Given the description of an element on the screen output the (x, y) to click on. 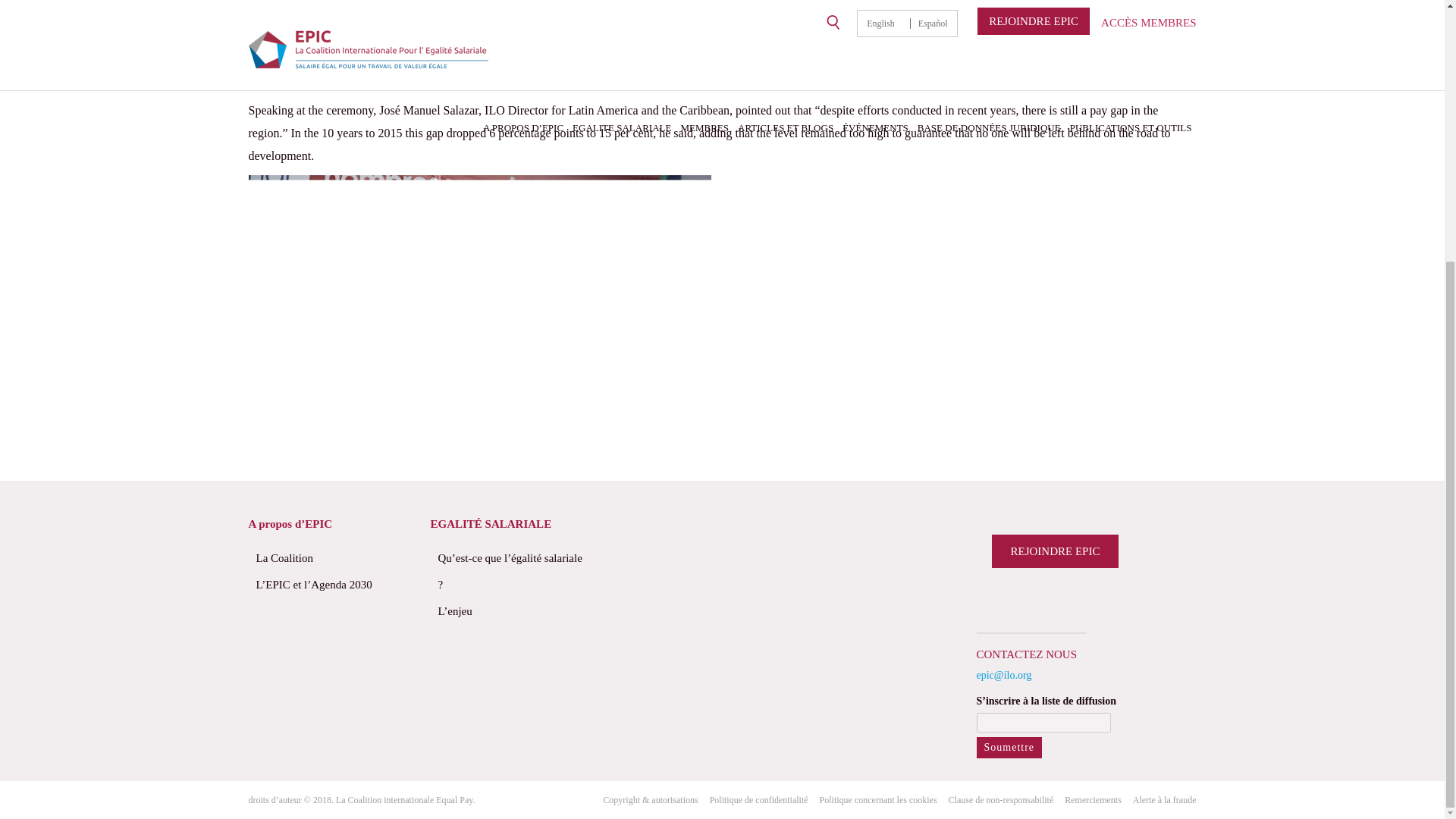
La Coalition (331, 558)
Soumettre (1009, 747)
REJOINDRE EPIC (1055, 551)
